Given the description of an element on the screen output the (x, y) to click on. 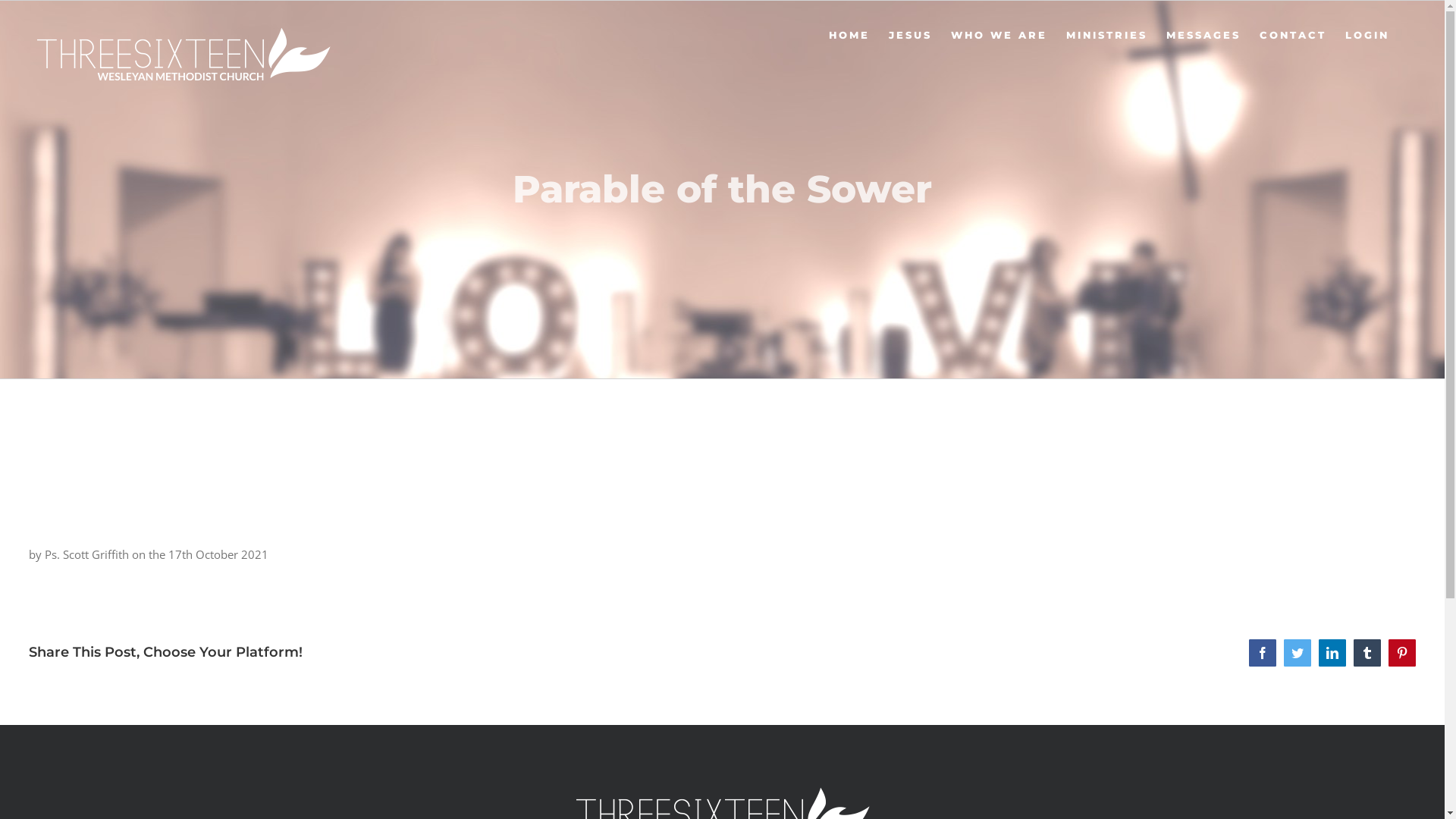
JESUS Element type: text (909, 34)
HOME Element type: text (848, 34)
WHO WE ARE Element type: text (998, 34)
MINISTRIES Element type: text (1106, 34)
LinkedIn Element type: text (1332, 652)
Facebook Element type: text (1262, 652)
Pinterest Element type: text (1401, 652)
Twitter Element type: text (1297, 652)
MESSAGES Element type: text (1203, 34)
CONTACT Element type: text (1292, 34)
LOGIN Element type: text (1367, 34)
Tumblr Element type: text (1366, 652)
